Given the description of an element on the screen output the (x, y) to click on. 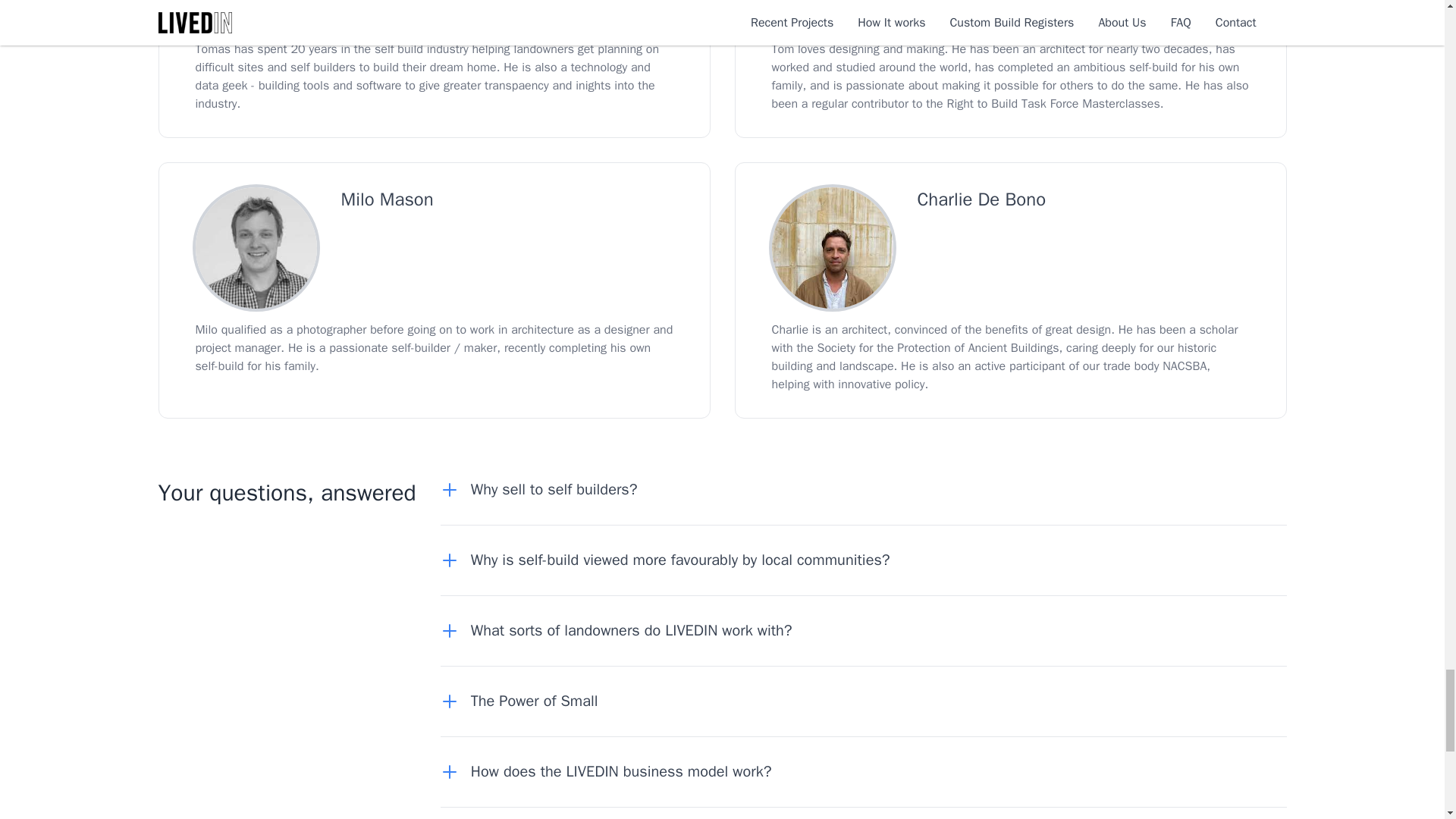
Why sell to self builders? (545, 489)
What sorts of landowners do LIVEDIN work with? (623, 630)
The Power of Small (525, 701)
How does the LIVEDIN business model work? (612, 771)
